Given the description of an element on the screen output the (x, y) to click on. 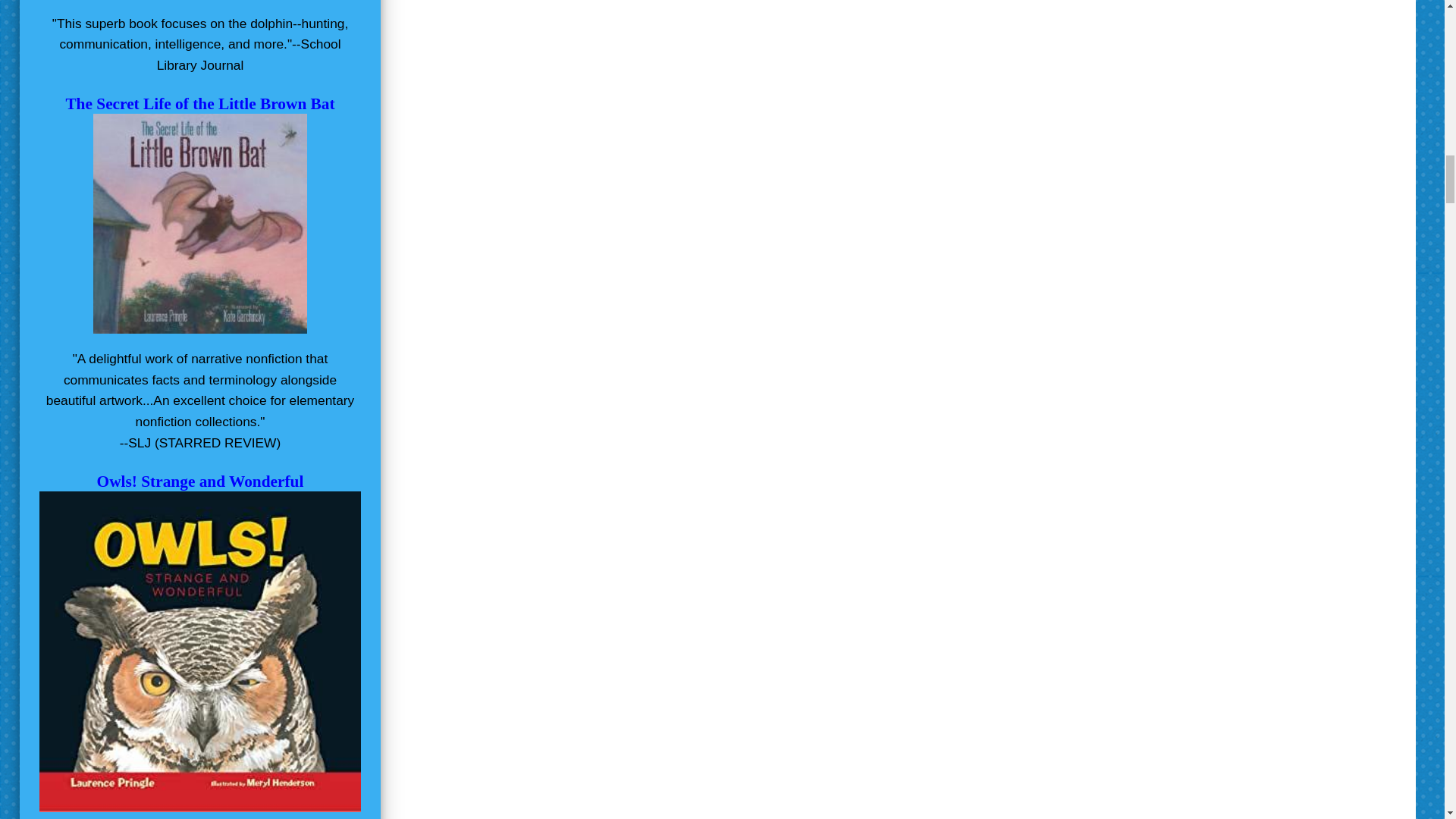
Owls! Strange and Wonderful (200, 481)
The Secret Life of the Little Brown Bat (199, 104)
